Given the description of an element on the screen output the (x, y) to click on. 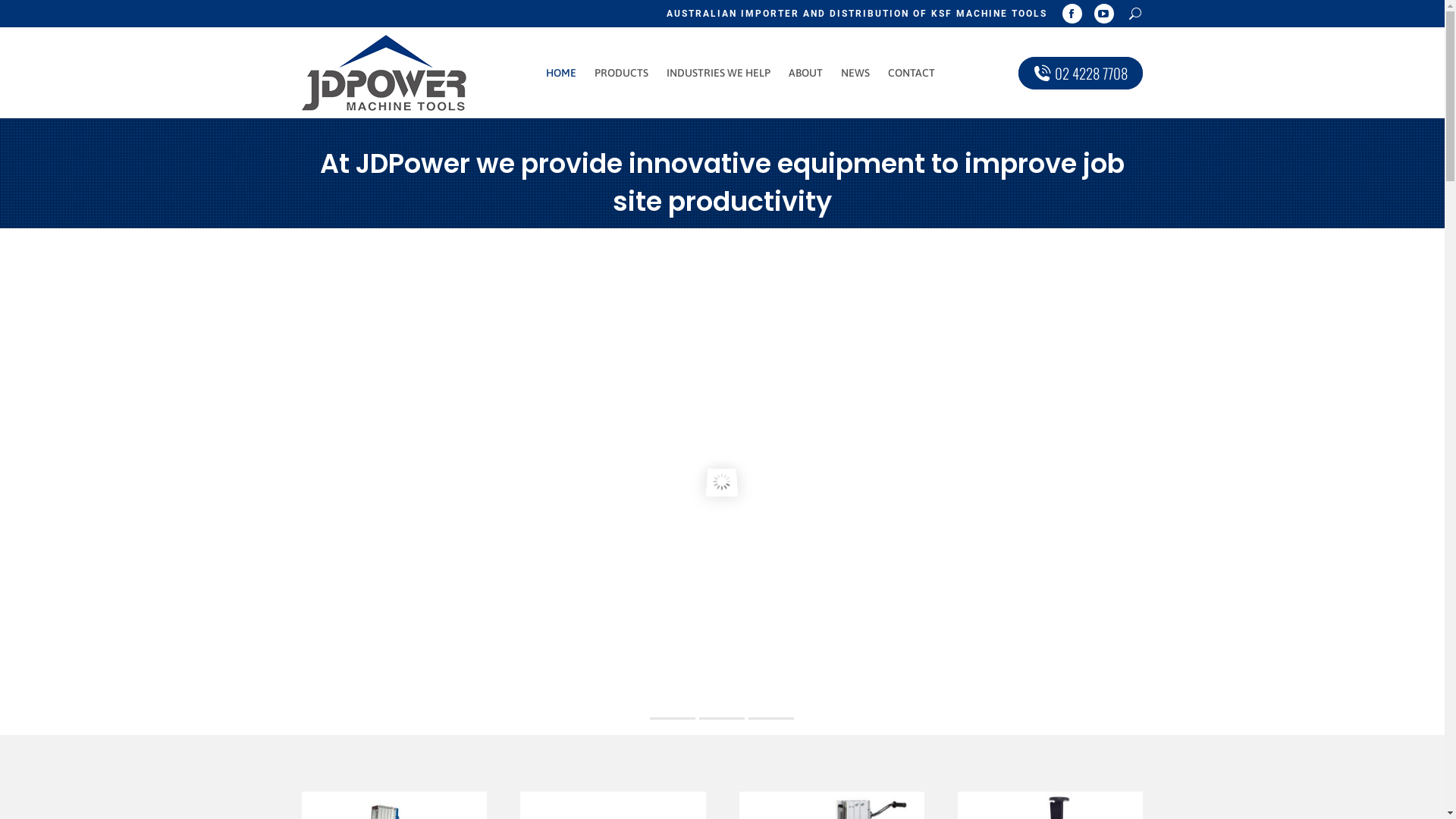
CONTACT Element type: text (911, 72)
INDUSTRIES WE HELP Element type: text (718, 72)
Go! Element type: text (22, 15)
ABOUT Element type: text (805, 72)
PRODUCTS Element type: text (621, 72)
Facebook page opens in new window Element type: text (1072, 13)
NEWS Element type: text (854, 72)
02 4228 7708 Element type: text (1080, 72)
HOME Element type: text (560, 72)
YouTube page opens in new window Element type: text (1103, 13)
